Given the description of an element on the screen output the (x, y) to click on. 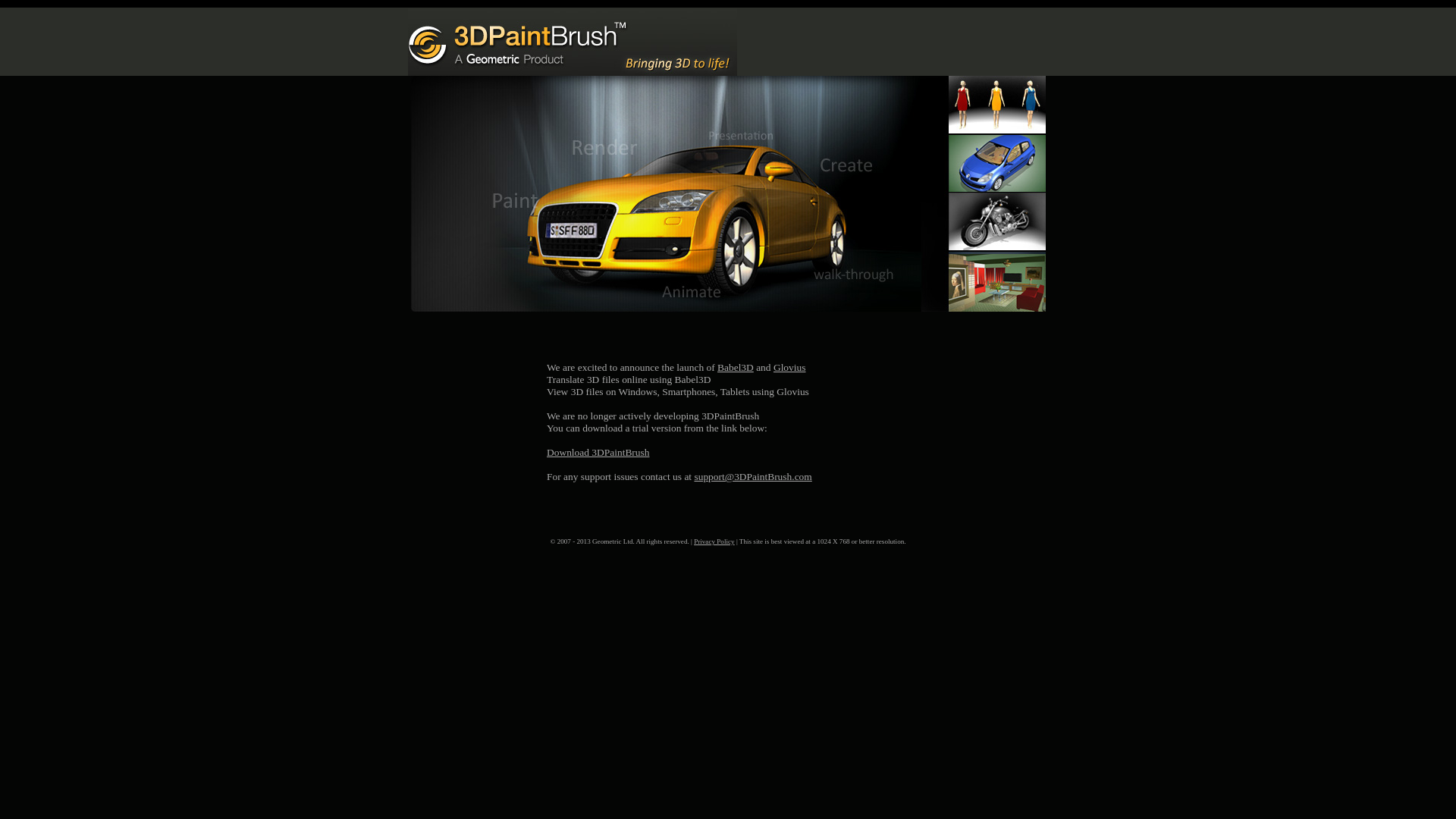
Download 3DPaintBrush Element type: text (597, 452)
Privacy Policy Element type: text (713, 541)
Glovius Element type: text (789, 367)
support@3DPaintBrush.com Element type: text (752, 476)
Babel3D Element type: text (735, 367)
